Given the description of an element on the screen output the (x, y) to click on. 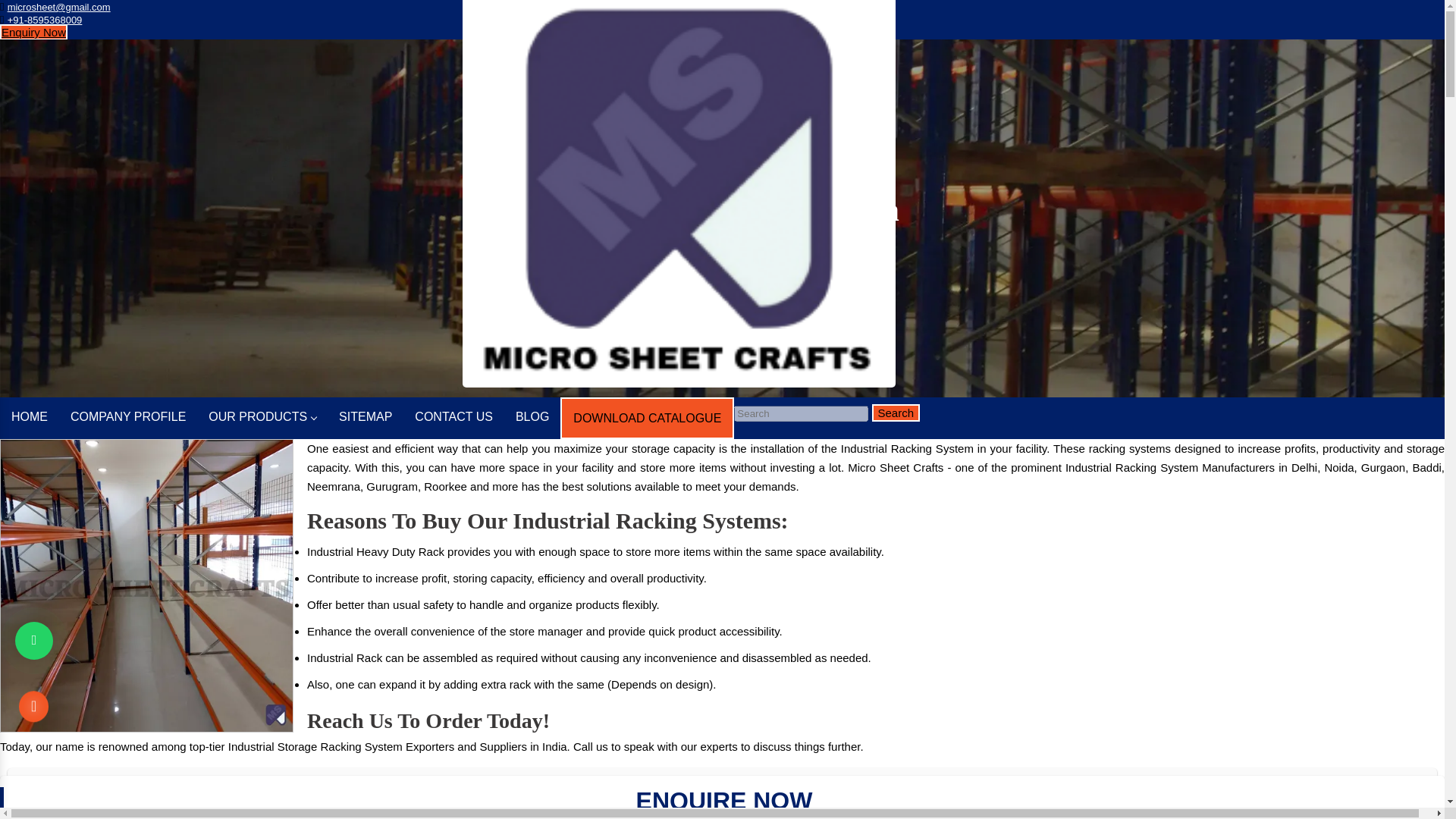
Enquiry Now (33, 32)
HOME (29, 417)
Our Products (669, 236)
Home (608, 236)
Company Profile (127, 417)
Home (29, 417)
Enquiry Now (33, 32)
COMPANY PROFILE (127, 417)
OUR PRODUCTS (261, 417)
Home (608, 236)
Our Products (669, 236)
Our Products (261, 417)
8595368009 (44, 19)
